Given the description of an element on the screen output the (x, y) to click on. 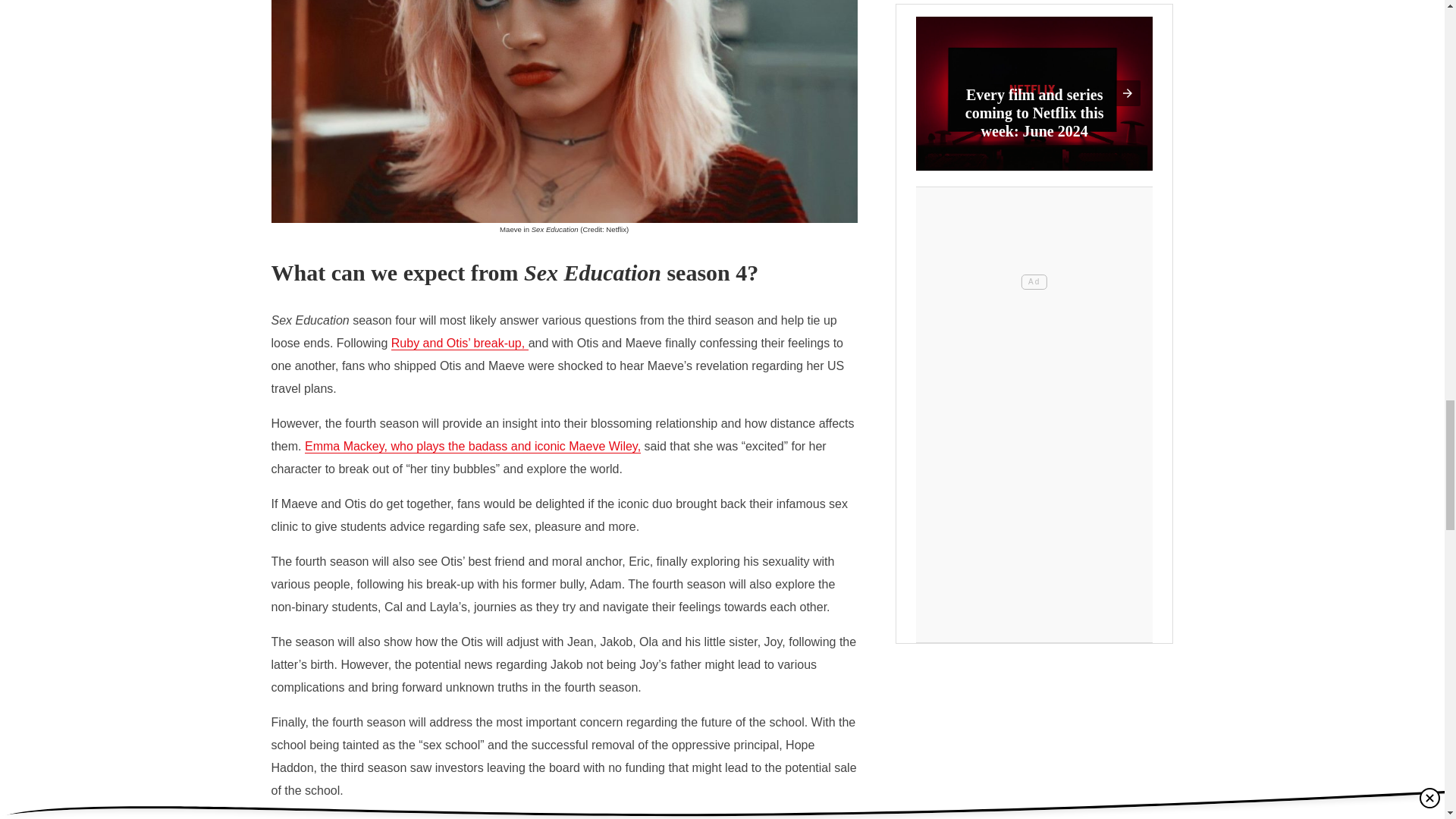
Emma Mackey, who plays the badass and iconic Maeve Wiley, (472, 446)
